Given the description of an element on the screen output the (x, y) to click on. 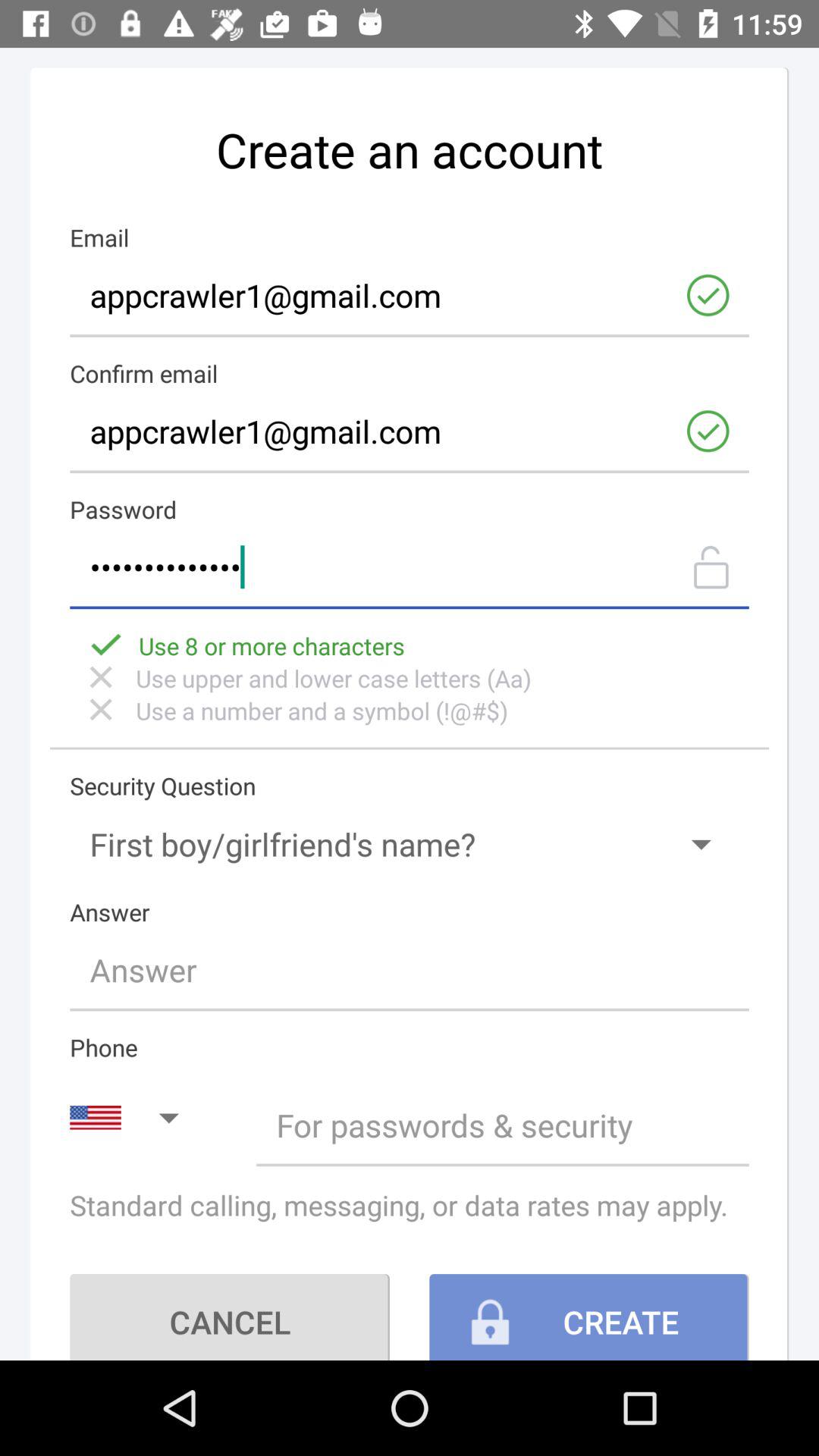
setting to privacy (502, 1124)
